Given the description of an element on the screen output the (x, y) to click on. 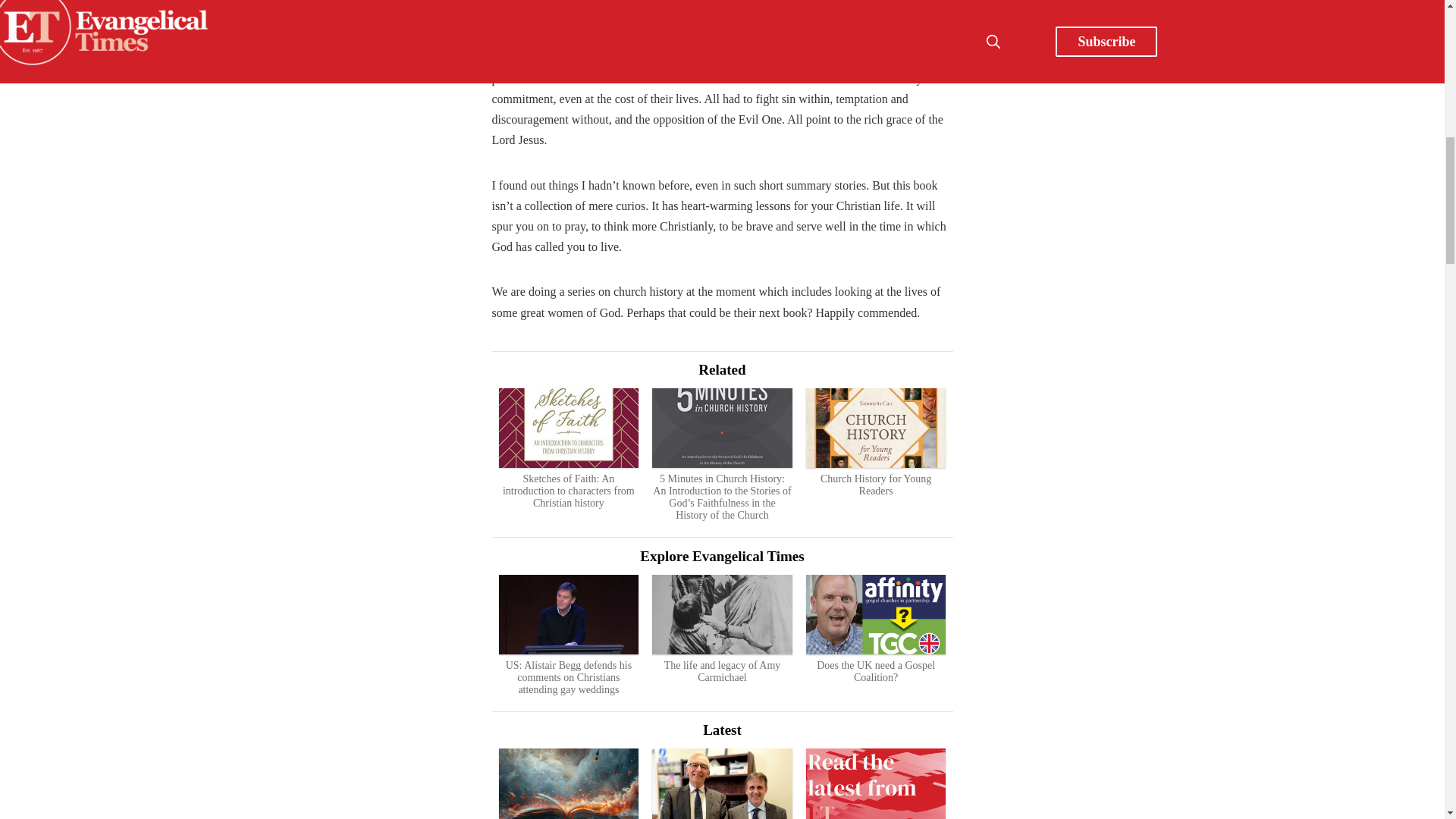
Stay in the loop - subscribe to ET's weekly newsletter (875, 783)
Church History for Young Readers (875, 442)
A new and rising liberalism (569, 783)
Church History for Young Readers (875, 442)
Hudson Taylor Ministries update given in Salisbury (722, 783)
The life and legacy of Amy Carmichael (722, 628)
The life and legacy of Amy Carmichael (722, 628)
Does the UK need a Gospel Coalition? (875, 628)
Hudson Taylor Ministries update given in Salisbury (722, 783)
A new and rising liberalism (569, 783)
Stay in the loop - subscribe to ET's weekly newsletter (875, 783)
